Given the description of an element on the screen output the (x, y) to click on. 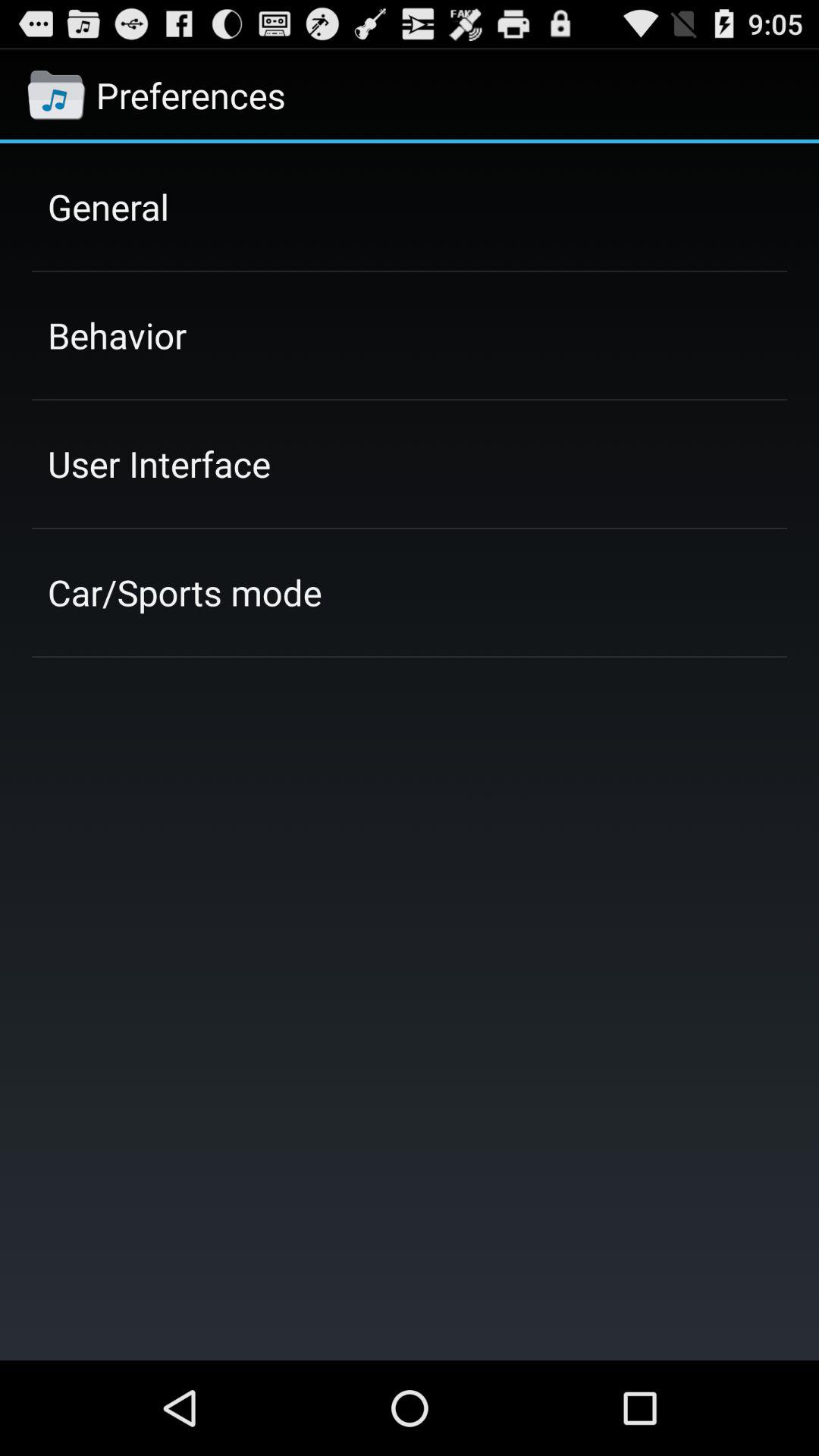
swipe until the behavior (116, 335)
